Given the description of an element on the screen output the (x, y) to click on. 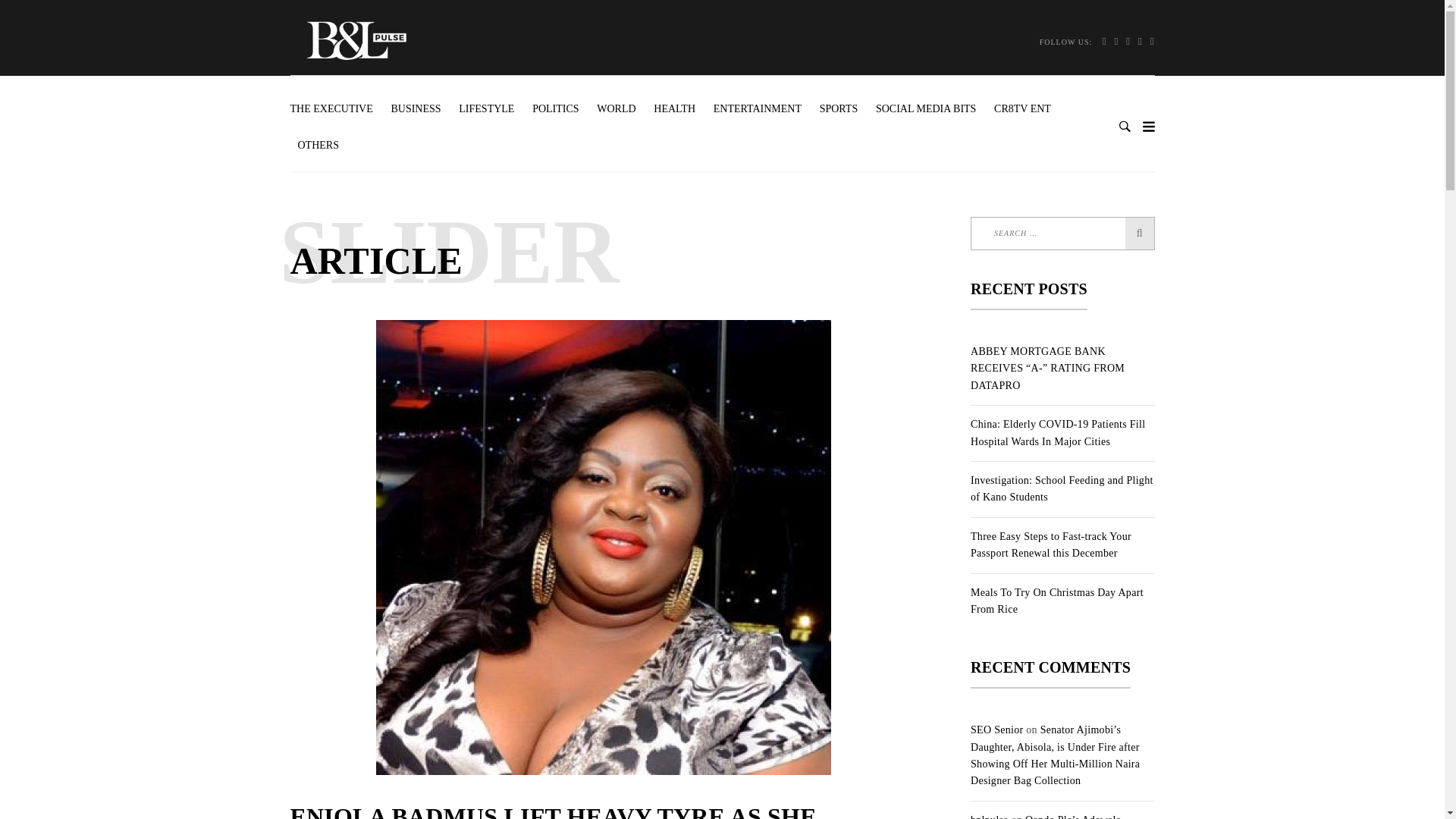
SOCIAL MEDIA BITS (925, 108)
OTHERS (317, 145)
CR8TV ENT (1022, 108)
POLITICS (555, 108)
WORLD (616, 108)
BUSINESS (415, 108)
HEALTH (674, 108)
LIFESTYLE (486, 108)
THE EXECUTIVE (334, 108)
SPORTS (839, 108)
ENTERTAINMENT (757, 108)
